Given the description of an element on the screen output the (x, y) to click on. 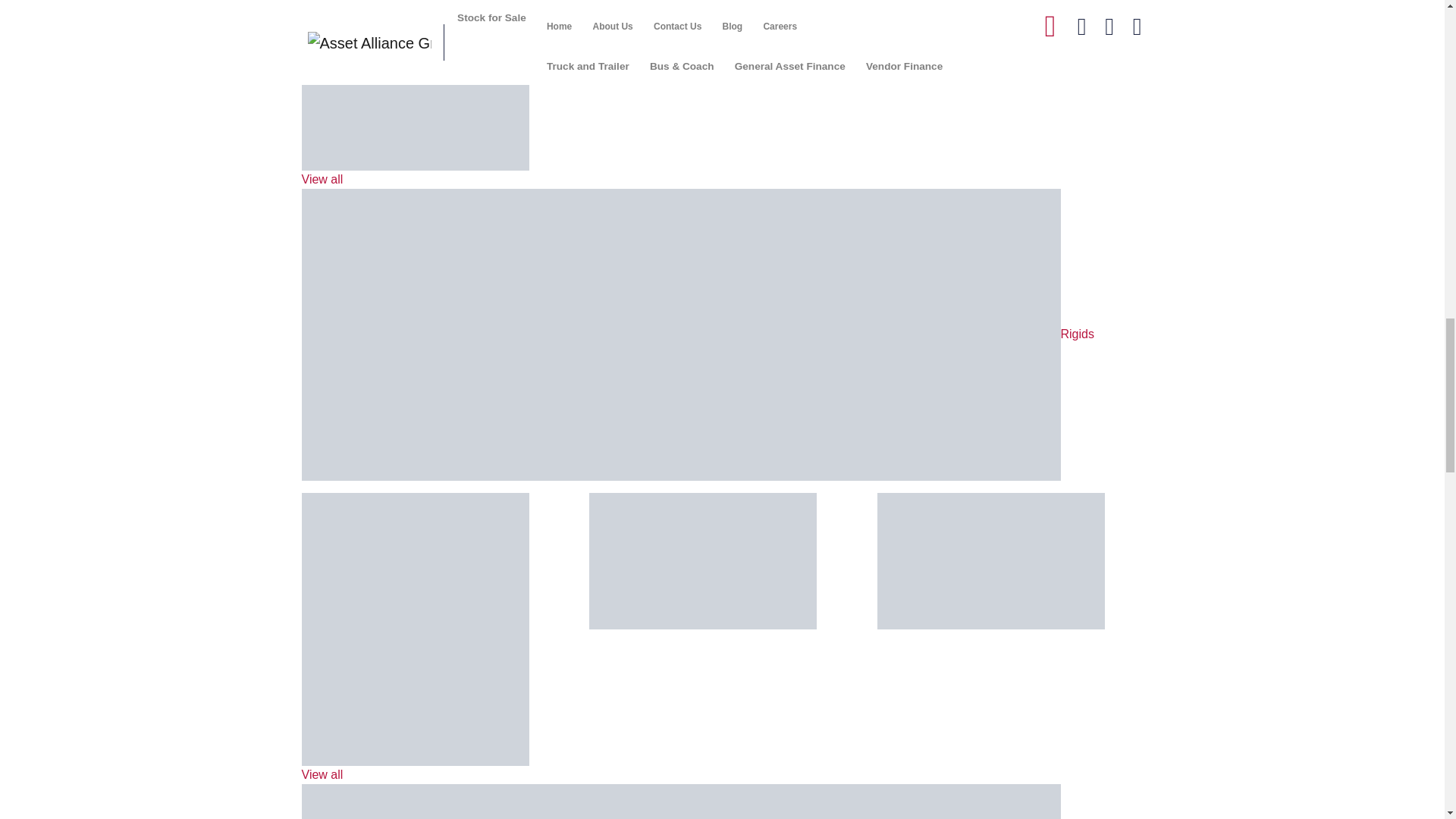
View all VOLVO Tractors (415, 101)
